Given the description of an element on the screen output the (x, y) to click on. 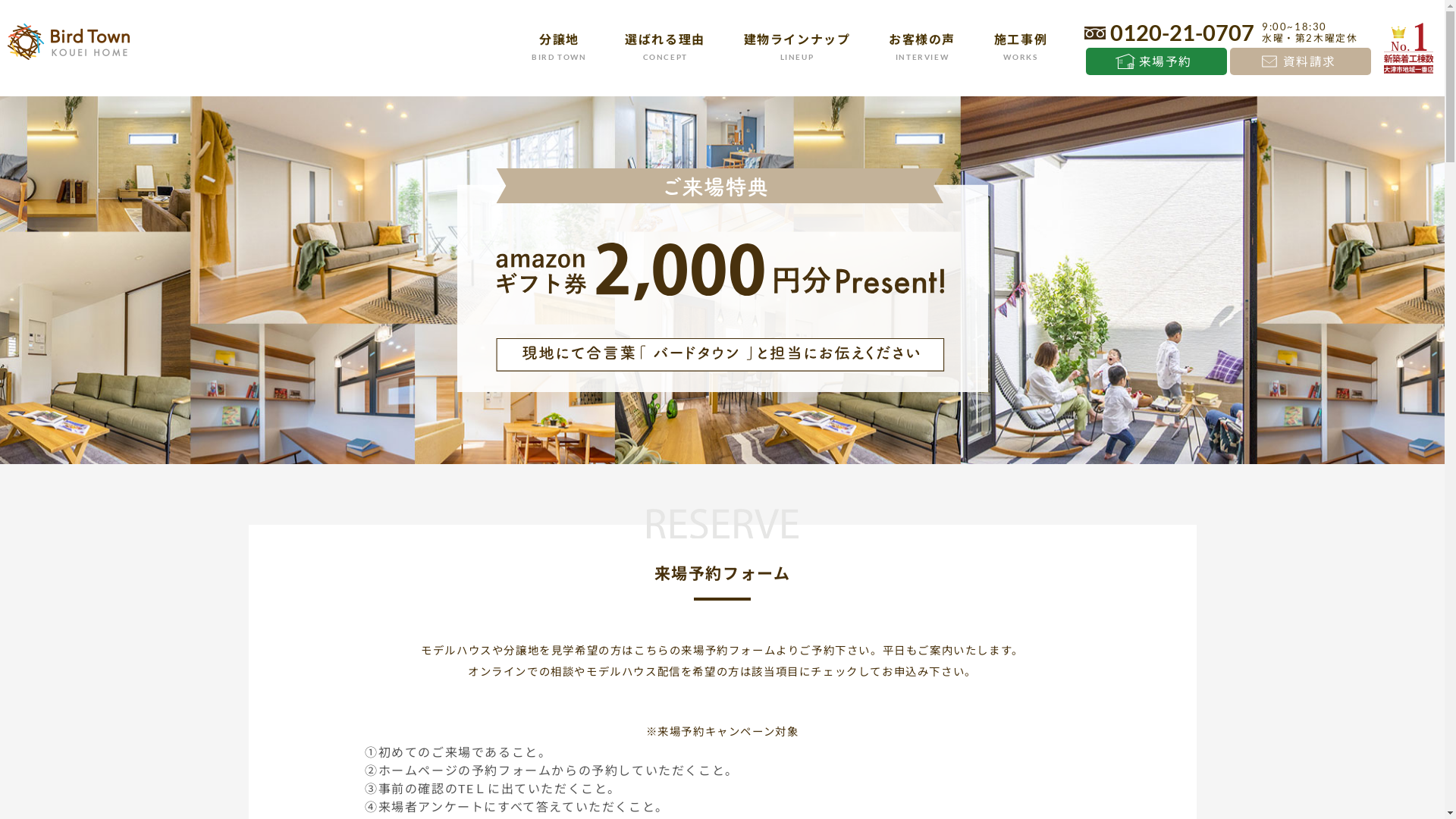
0120-21-0707 Element type: text (1169, 32)
